Given the description of an element on the screen output the (x, y) to click on. 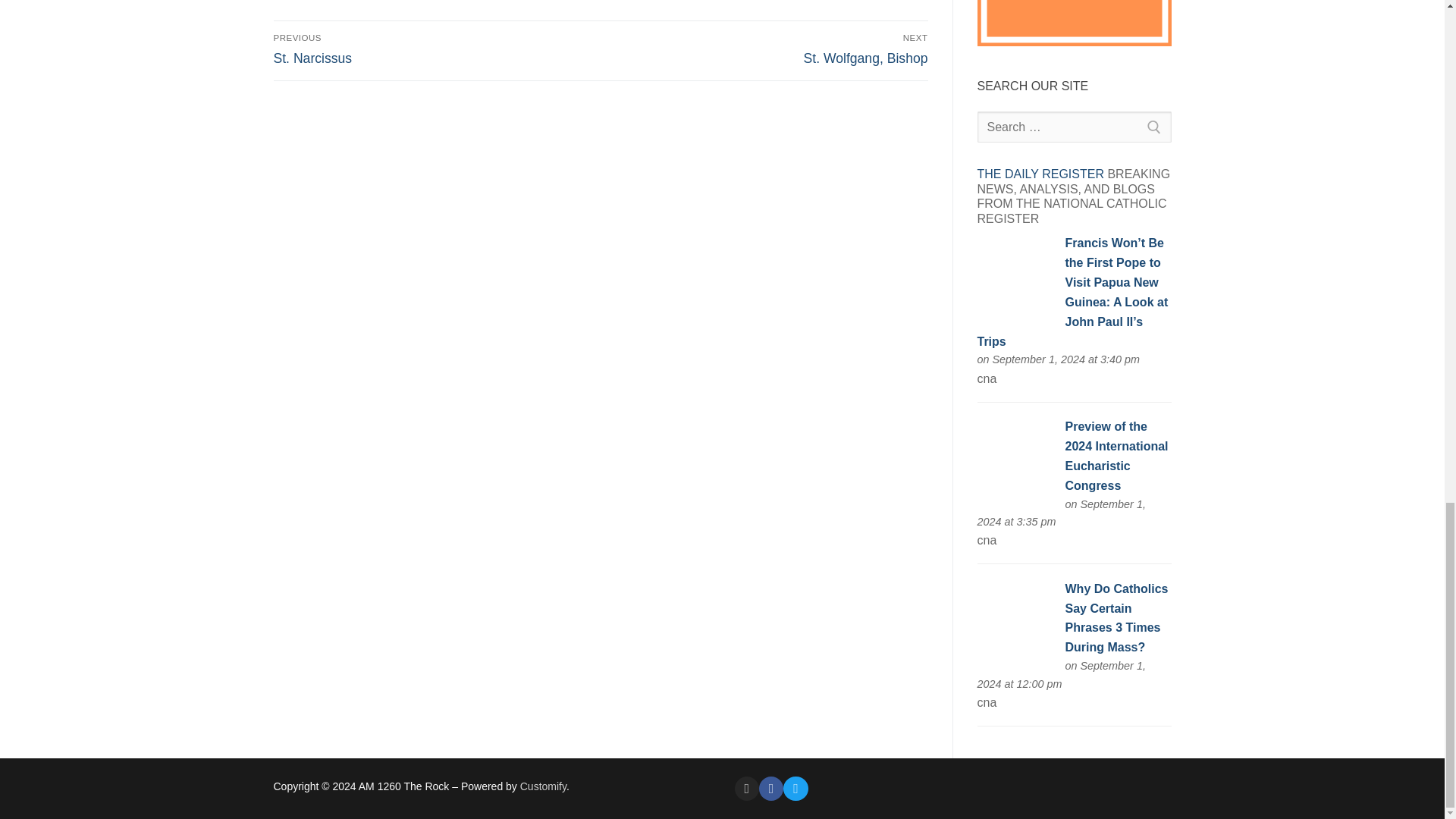
Twitter (795, 788)
Facebook (770, 788)
Instagram (746, 788)
Search for: (1073, 127)
Preview of the 2024 International Eucharistic Congress (1014, 458)
Why Do Catholics Say Certain Phrases 3 Times During Mass? (1014, 621)
